Given the description of an element on the screen output the (x, y) to click on. 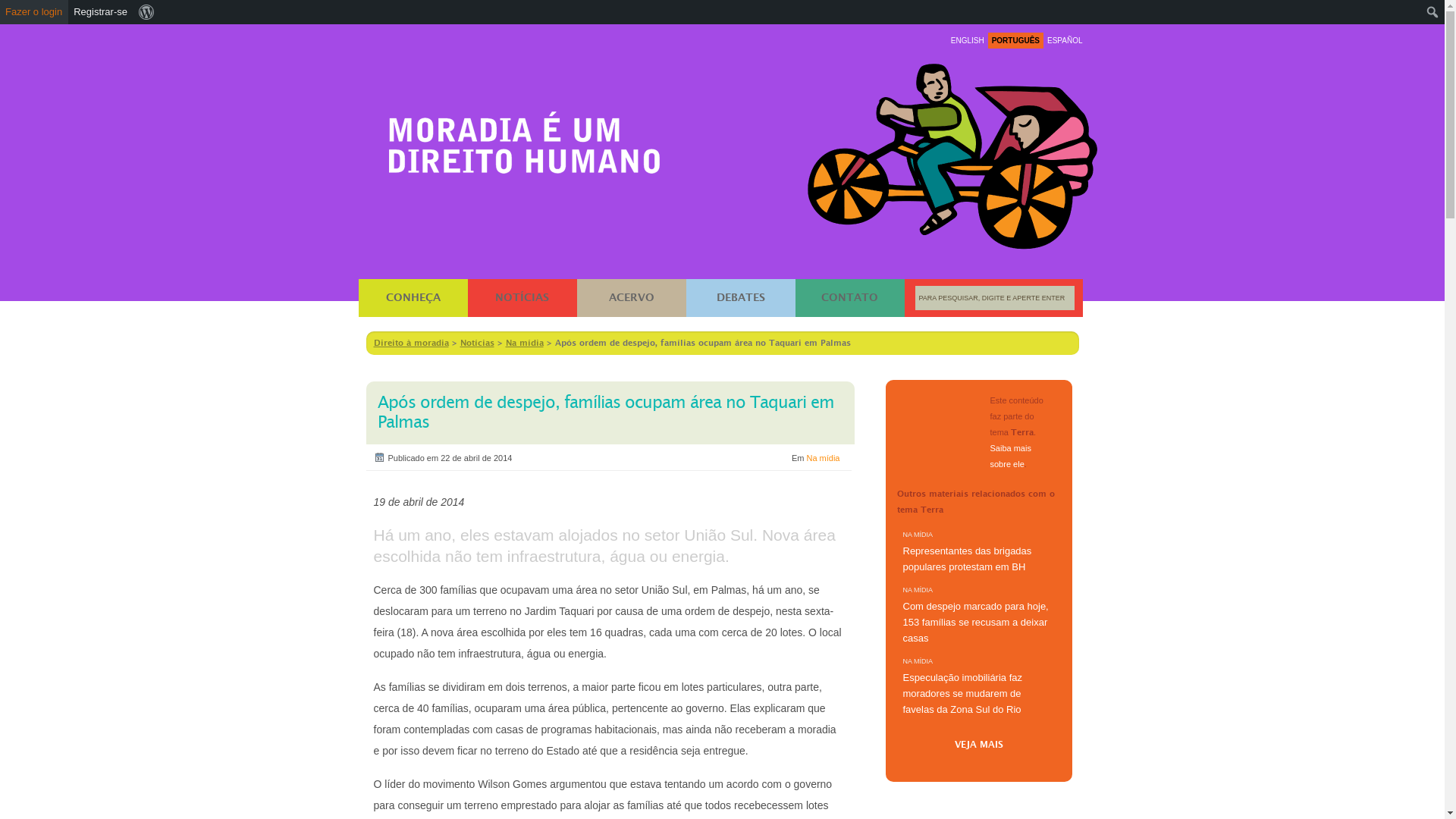
Terra Element type: text (937, 432)
Pesquisar Element type: text (23, 13)
Pesquisar Element type: text (28, 7)
Saiba mais sobre ele Element type: text (1010, 455)
CONTATO Element type: text (848, 297)
VEJA MAIS Element type: text (978, 742)
ACERVO Element type: text (630, 297)
DEBATES Element type: text (739, 297)
Registrar-se Element type: text (100, 12)
Fazer o login Element type: text (34, 12)
ENGLISH Element type: text (967, 40)
Representantes das brigadas populares protestam em BH Element type: text (978, 558)
